Given the description of an element on the screen output the (x, y) to click on. 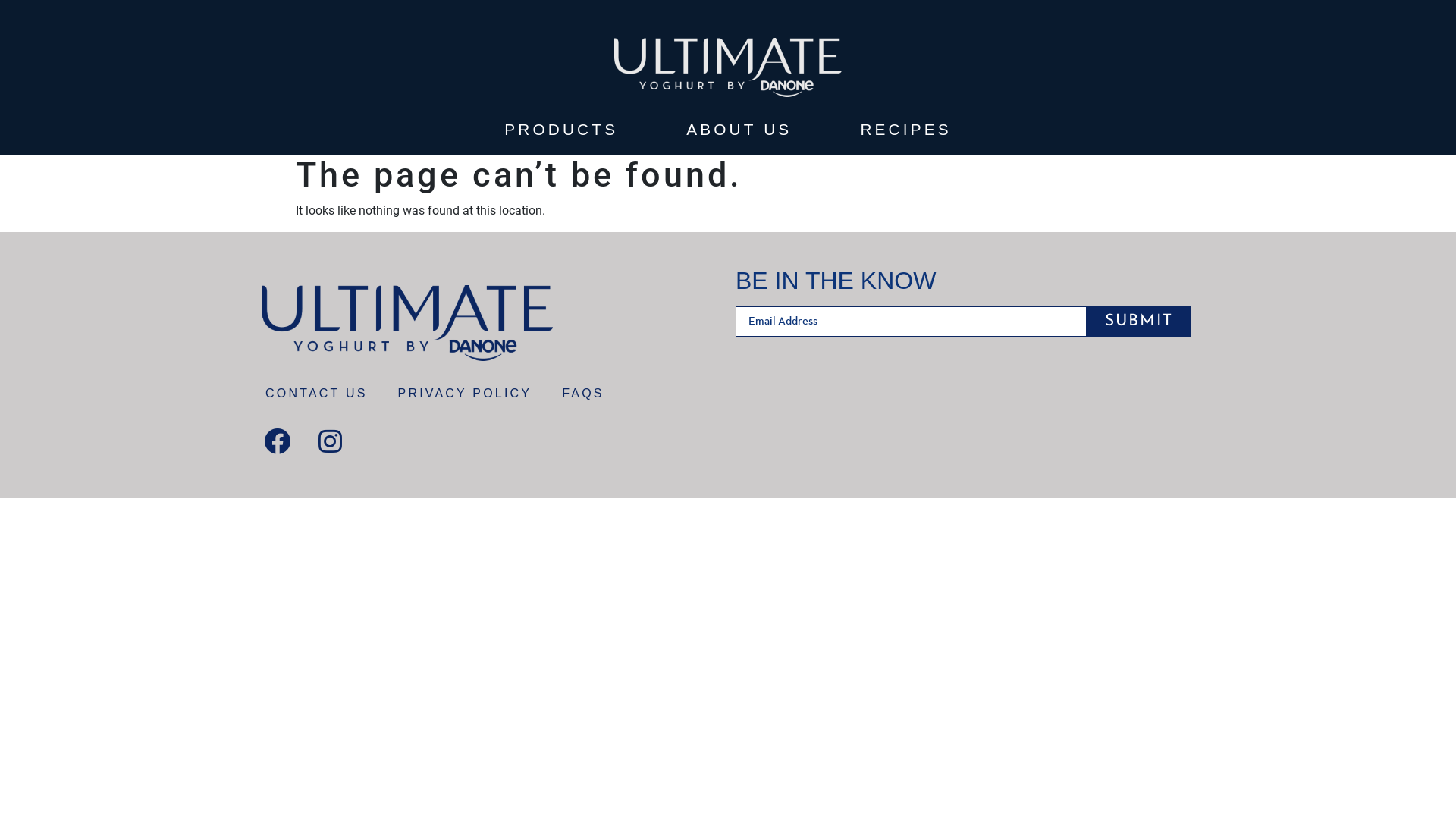
PRODUCTS Element type: text (561, 129)
PRIVACY POLICY Element type: text (464, 393)
RECIPES Element type: text (905, 129)
CONTACT US Element type: text (316, 393)
FAQS Element type: text (582, 393)
SUBMIT Element type: text (1138, 321)
ABOUT US Element type: text (738, 129)
